Given the description of an element on the screen output the (x, y) to click on. 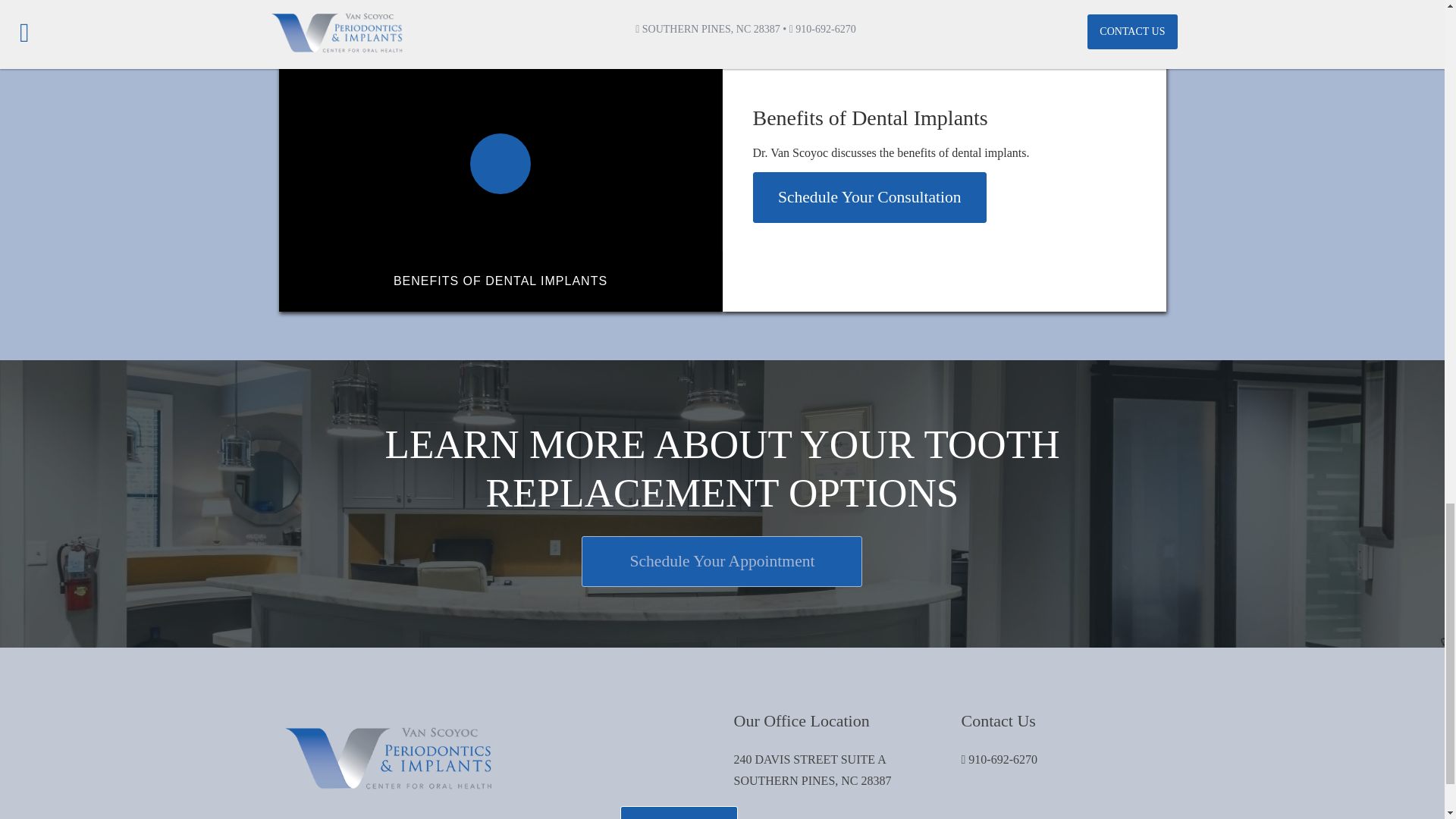
Play (500, 163)
Toggle Mute (591, 291)
0 (427, 291)
Toggle Fullscreen (702, 291)
Play (298, 291)
10 (644, 291)
